Given the description of an element on the screen output the (x, y) to click on. 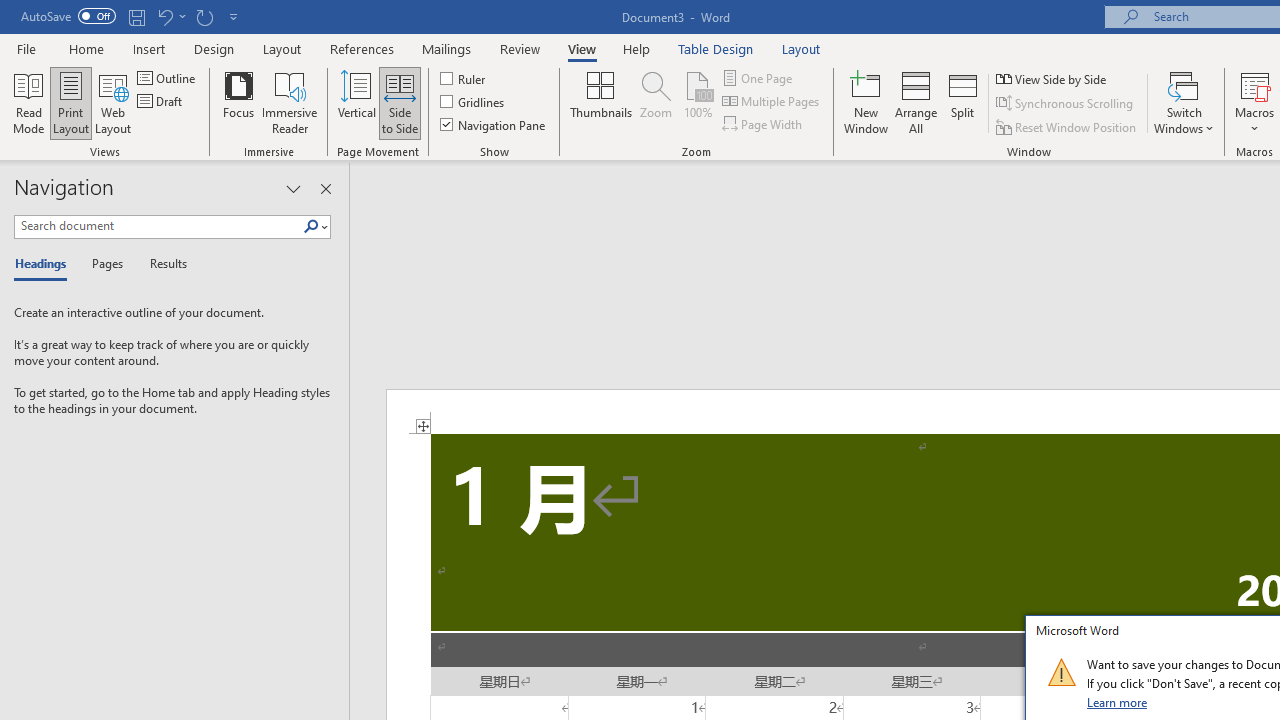
Focus (238, 102)
Synchronous Scrolling (1066, 103)
Vertical (356, 102)
Gridlines (473, 101)
Ruler (463, 78)
Arrange All (916, 102)
100% (698, 102)
Page Width (763, 124)
